Given the description of an element on the screen output the (x, y) to click on. 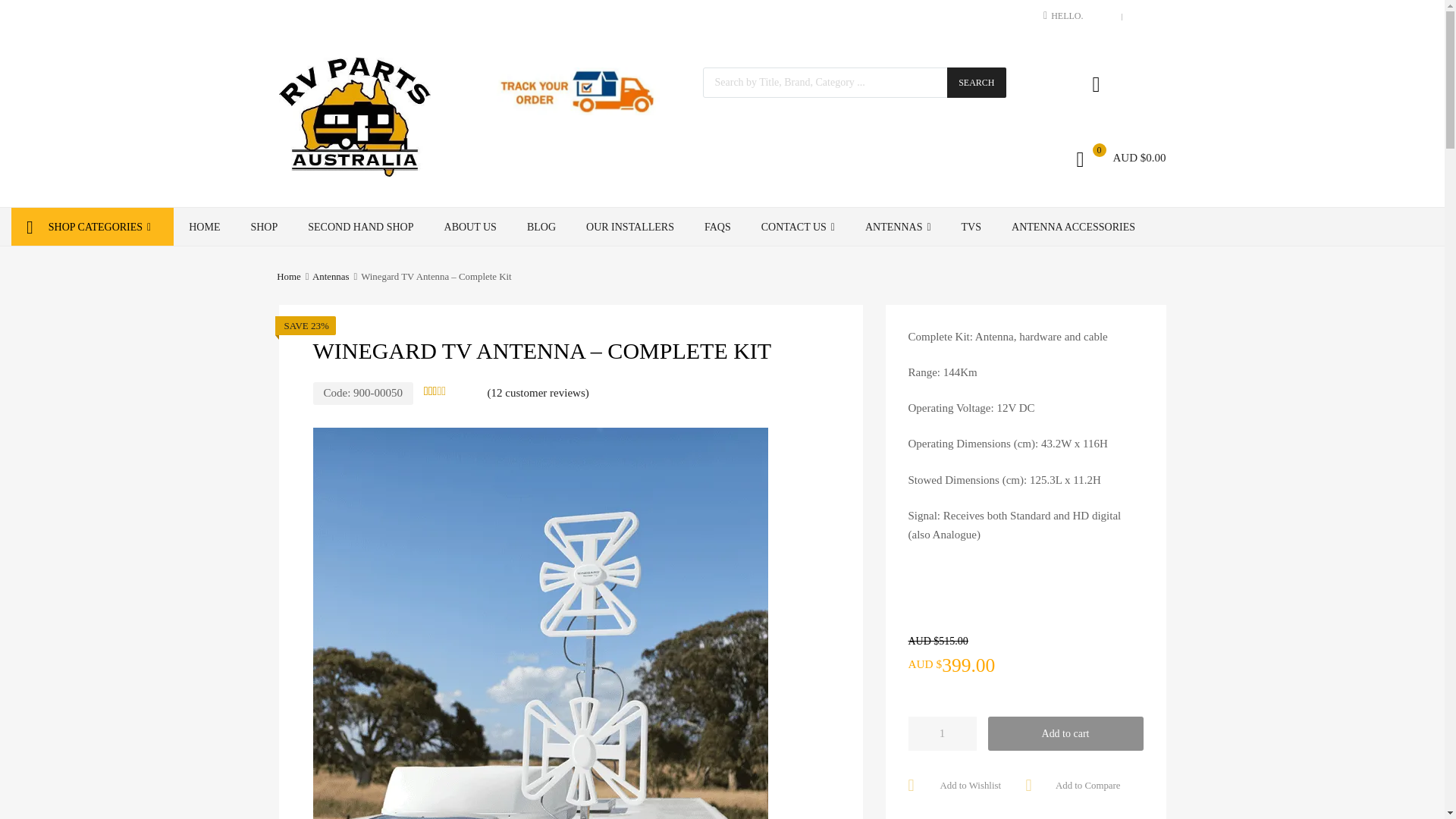
SIGN IN (1101, 15)
Login (800, 431)
REGISTER (1145, 15)
SEARCH (976, 82)
SHOP CATEGORIES (92, 226)
RV Parts Australia (354, 173)
Register (796, 469)
